Given the description of an element on the screen output the (x, y) to click on. 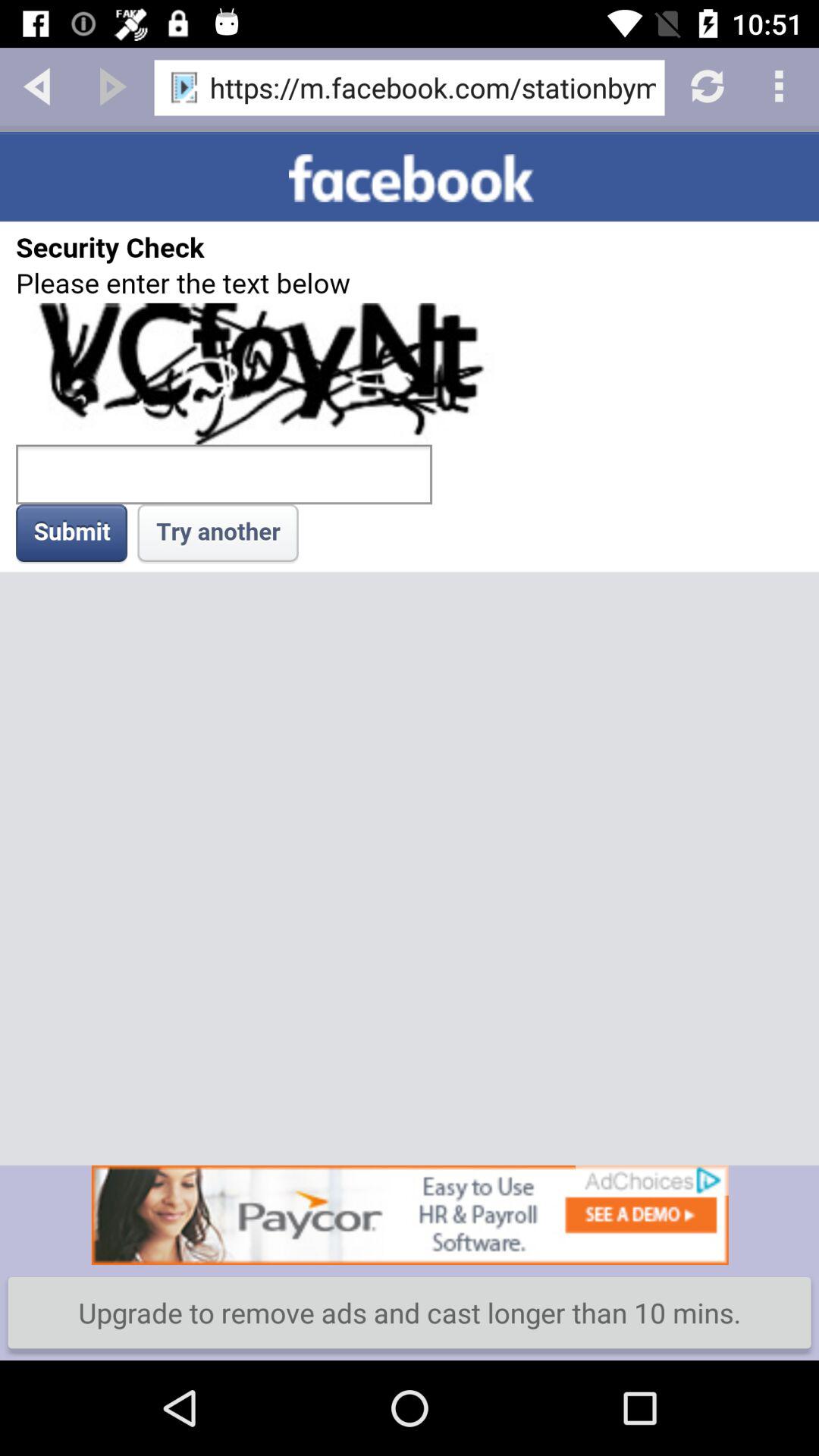
go back (37, 85)
